Given the description of an element on the screen output the (x, y) to click on. 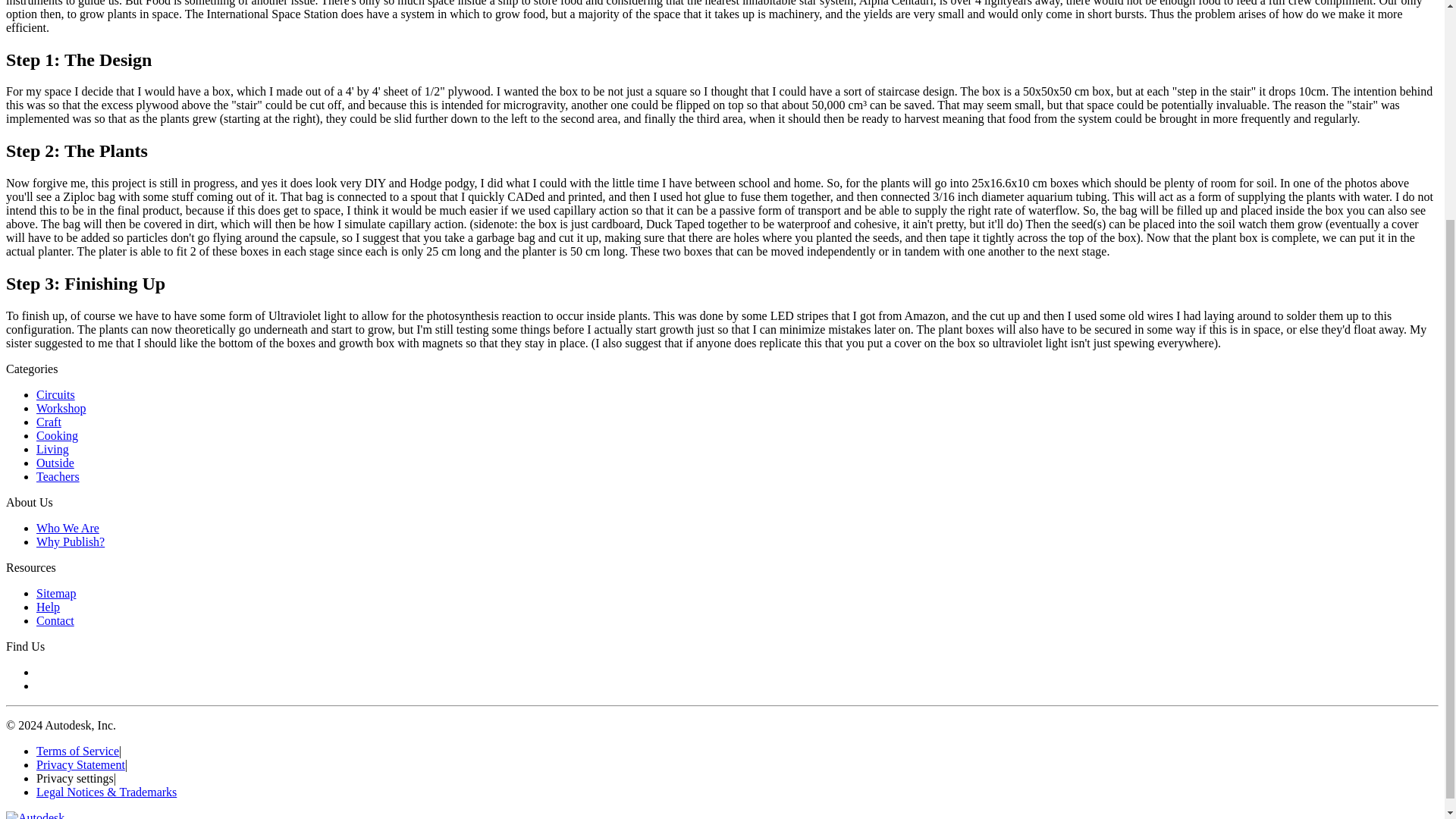
Who We Are (67, 527)
Privacy settings (74, 778)
Why Publish? (70, 541)
Contact (55, 620)
Privacy Statement (80, 764)
Terms of Service (77, 750)
Help (47, 606)
Sitemap (55, 593)
